Given the description of an element on the screen output the (x, y) to click on. 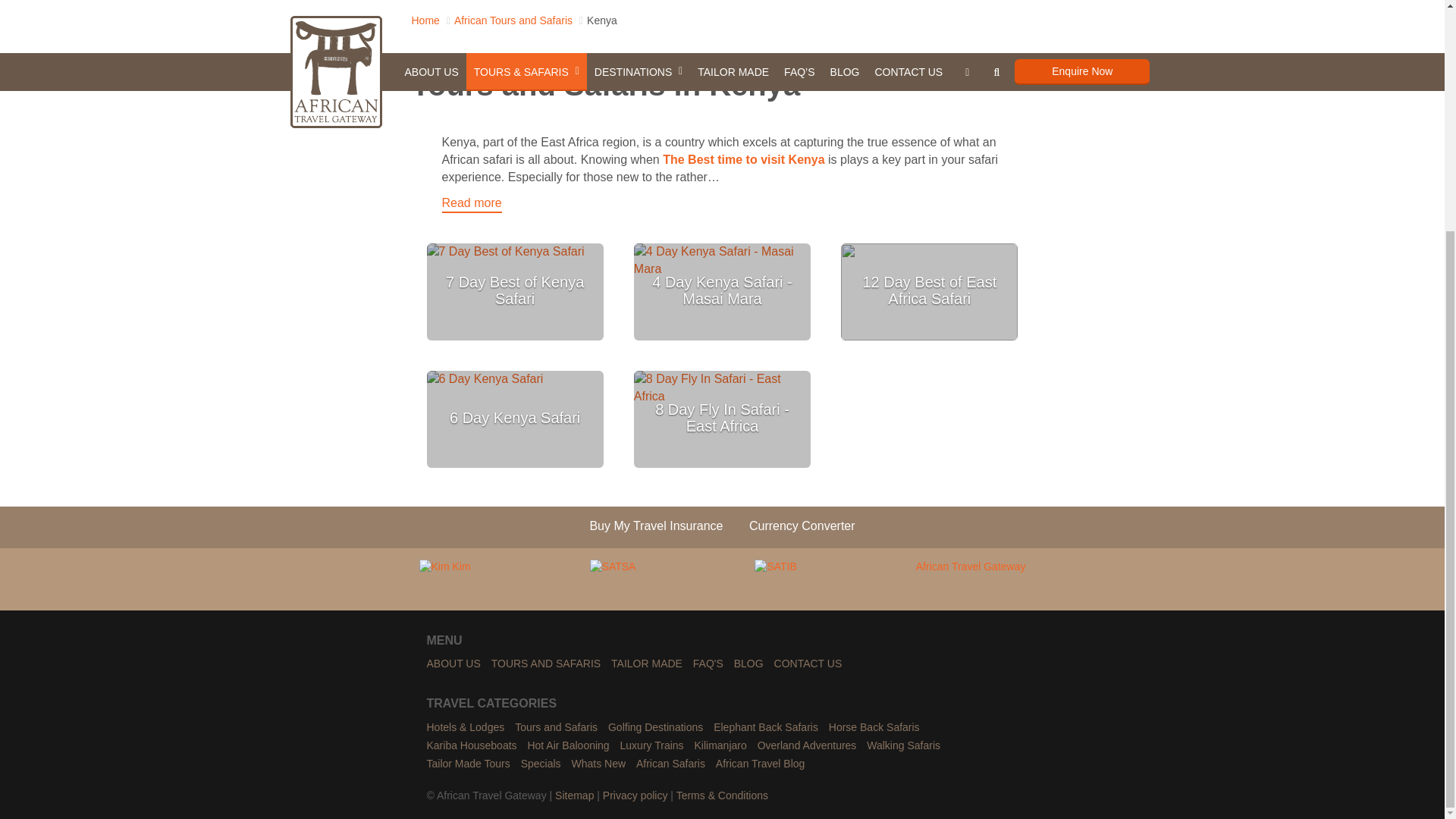
Elephant Back Safaris (765, 727)
Home (424, 20)
Read more (470, 203)
12 Day Best of East Africa Safari (928, 290)
Golfing Destinations (655, 727)
African Tours and Safaris (555, 727)
4 Day Kenya Safari - Masai Mara (722, 290)
8 Day Fly In Safari - East Africa (722, 417)
African Tours and Safaris (513, 20)
7 Day Best of Kenya Safari (514, 290)
